Given the description of an element on the screen output the (x, y) to click on. 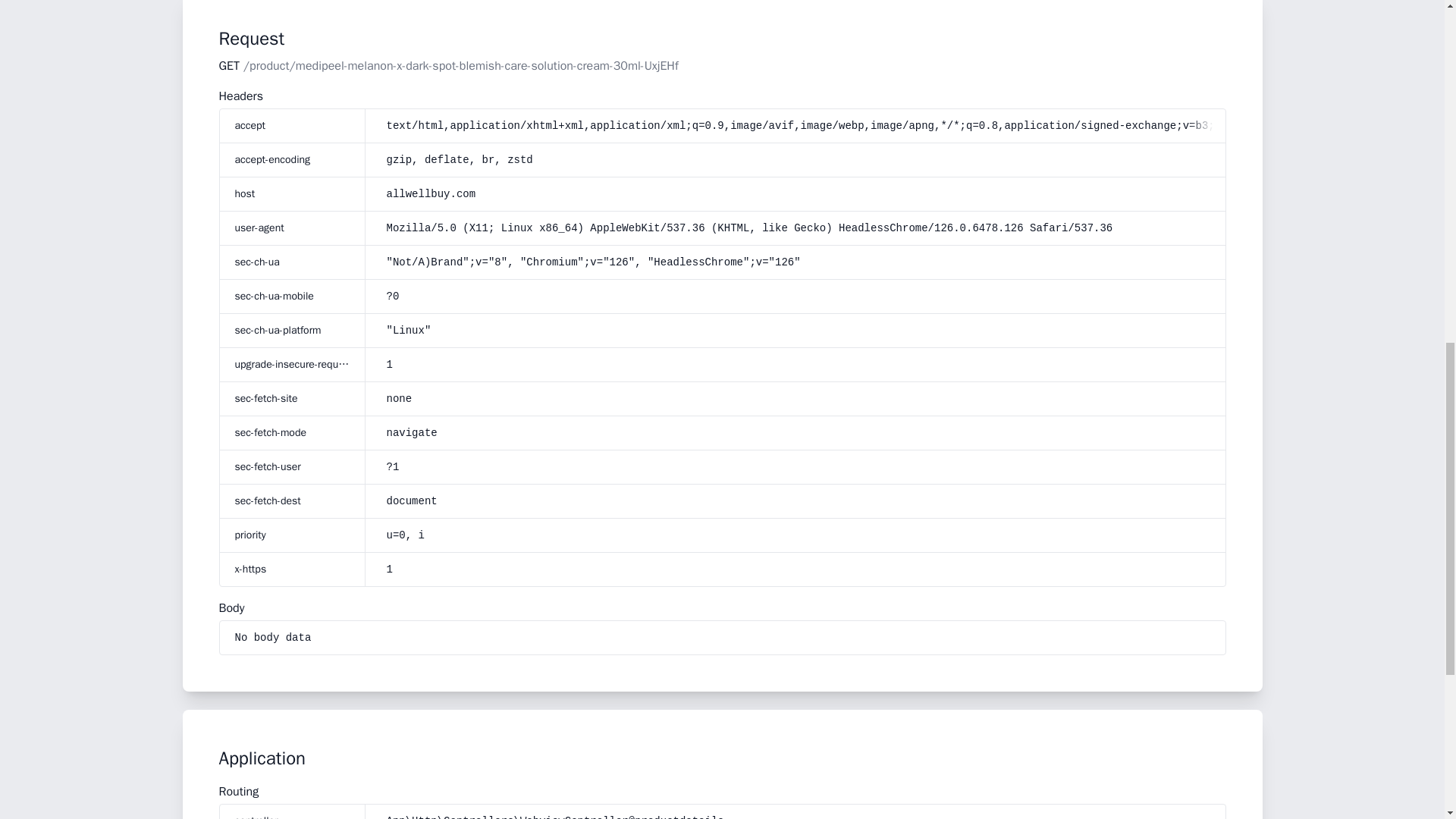
navigate (798, 432)
gzip, deflate, br, zstd (459, 159)
gzip, deflate, br, zstd (798, 159)
1 (798, 364)
navigate (411, 432)
?1 (798, 467)
none (798, 398)
"Linux" (408, 330)
No body data (721, 637)
allwellbuy.com (431, 194)
